Given the description of an element on the screen output the (x, y) to click on. 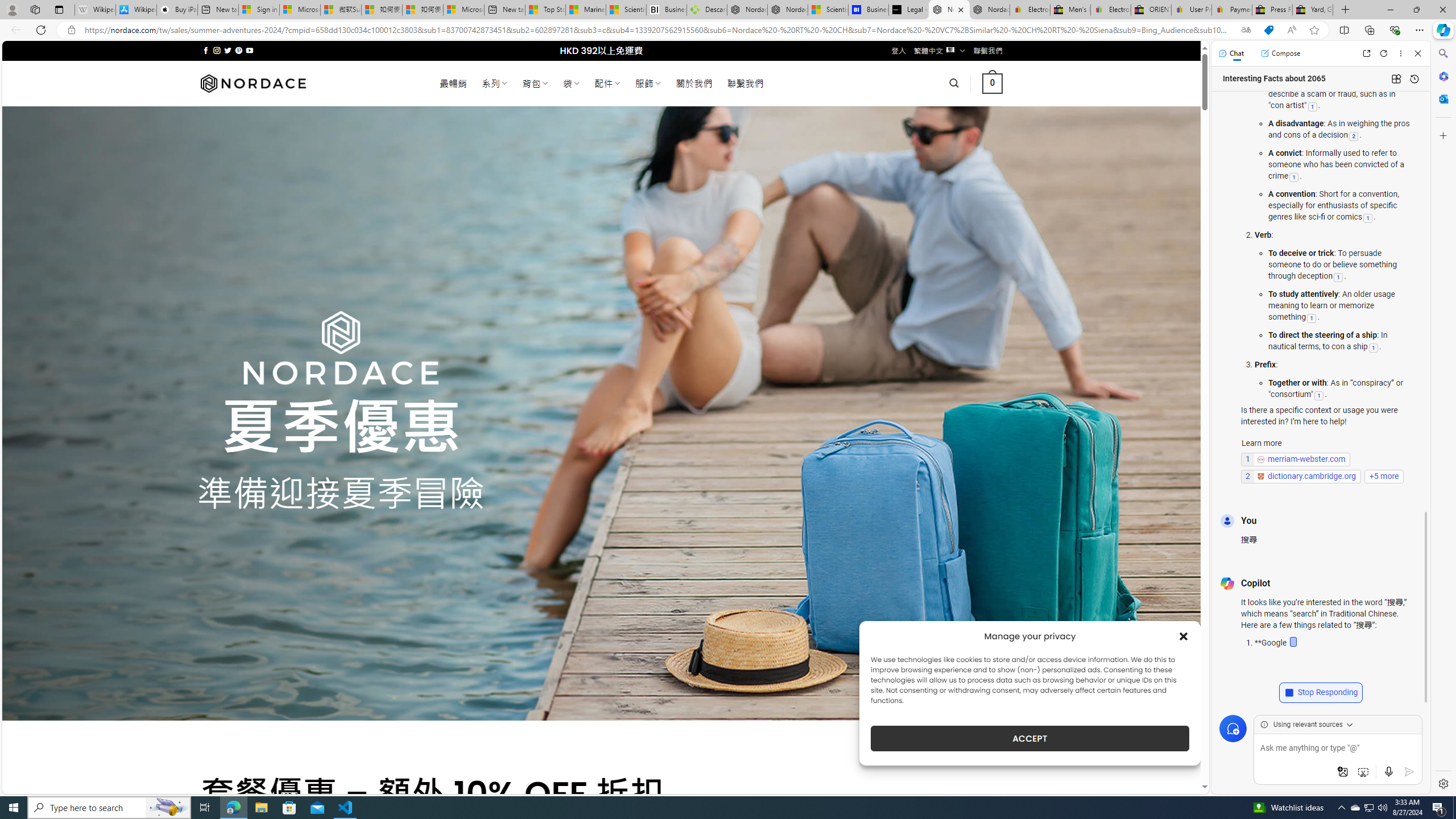
Press Room - eBay Inc. (1272, 9)
Follow on YouTube (249, 50)
Marine life - MSN (585, 9)
Show translate options (1245, 29)
